Given the description of an element on the screen output the (x, y) to click on. 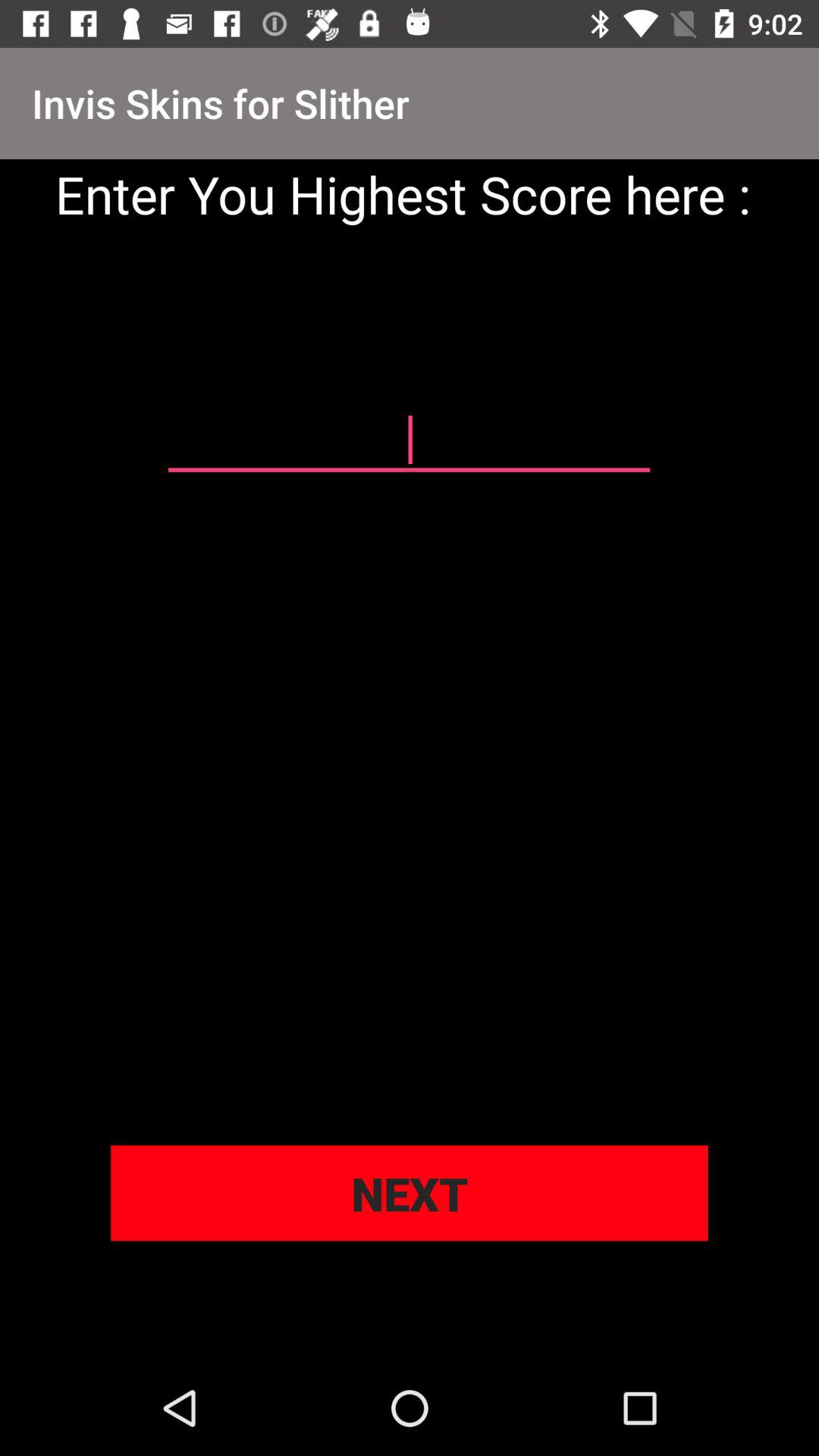
enter text (409, 440)
